Given the description of an element on the screen output the (x, y) to click on. 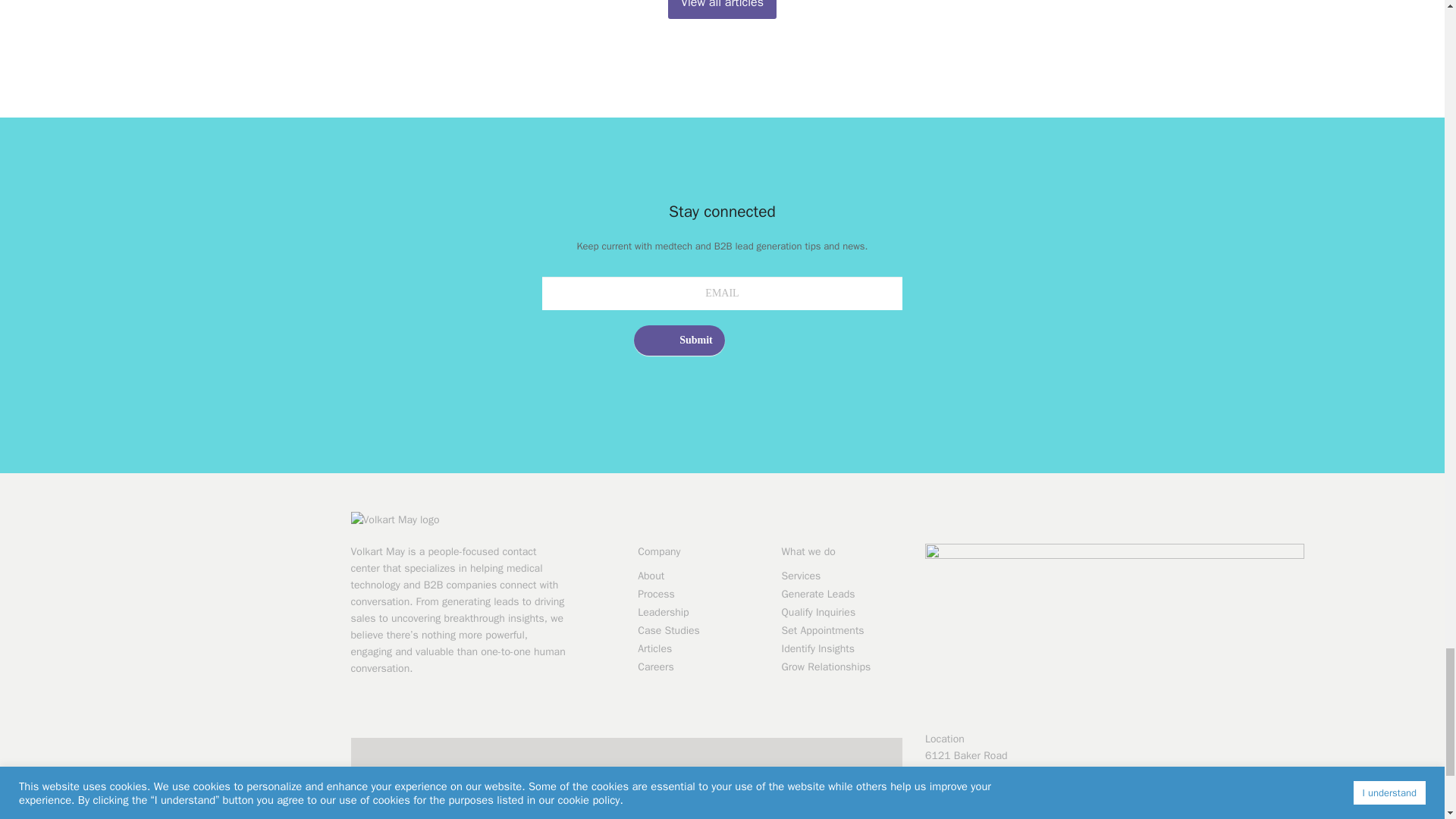
Generate Leads (841, 593)
Grow Relationships (841, 666)
Process (697, 593)
Leadership (697, 611)
Set Appointments (841, 629)
View all articles (722, 9)
Qualify Inquiries (841, 611)
Submit (679, 340)
Process (697, 593)
Articles (697, 647)
